Given the description of an element on the screen output the (x, y) to click on. 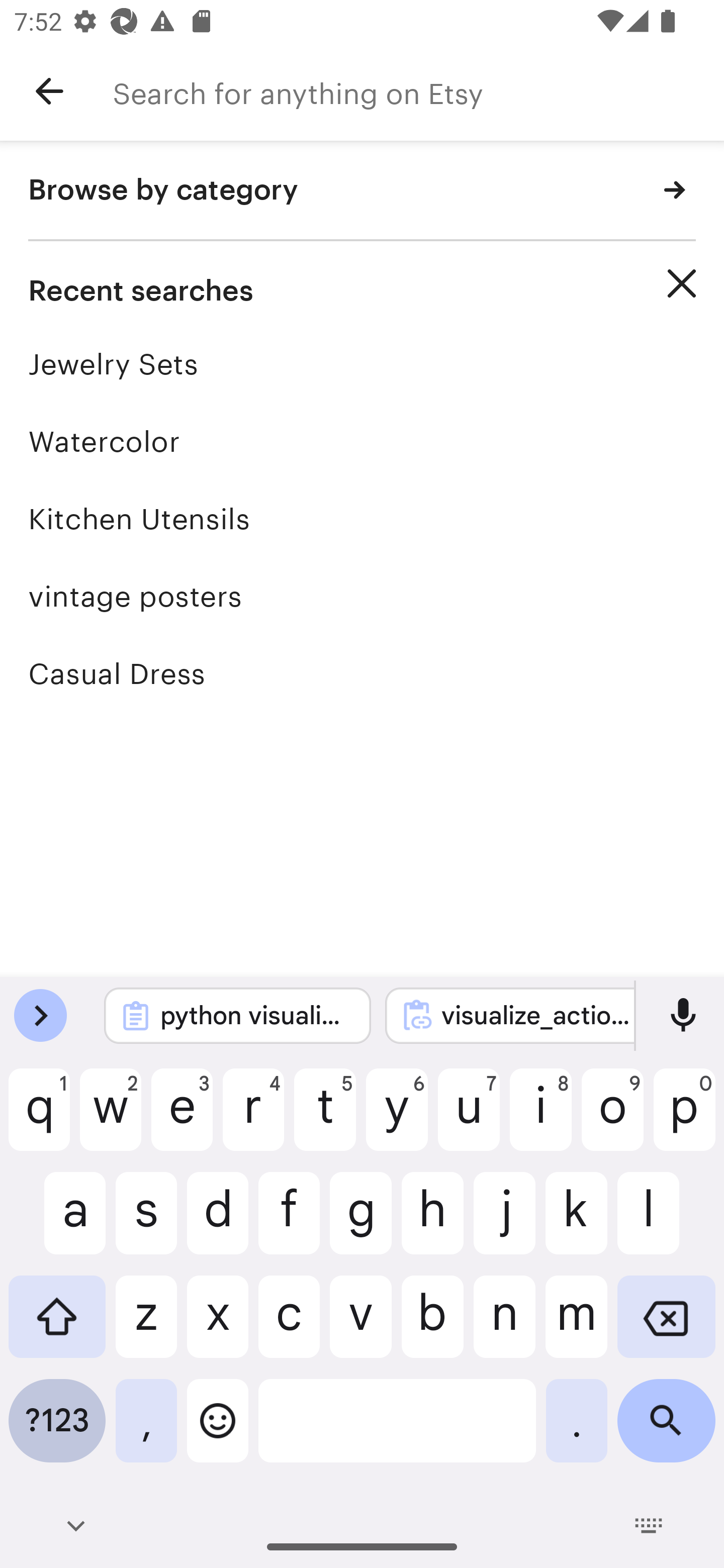
Navigate up (49, 91)
Search for anything on Etsy (418, 91)
Browse by category (362, 191)
Clear (681, 283)
Jewelry Sets (362, 364)
Watercolor (362, 440)
Kitchen Utensils (362, 518)
vintage posters (362, 596)
Casual Dress (362, 673)
